Given the description of an element on the screen output the (x, y) to click on. 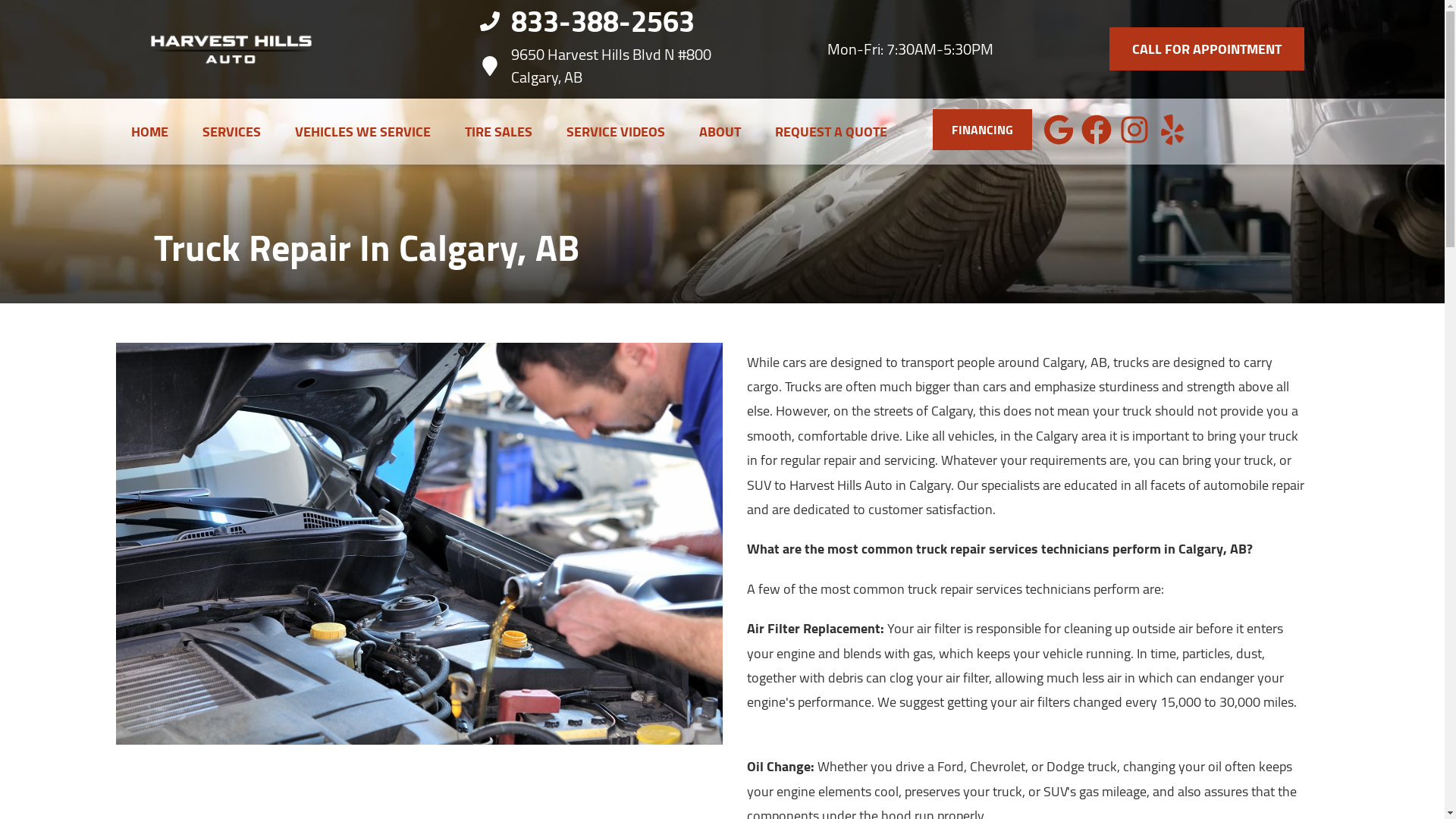
Make an Appointment (1206, 48)
SERVICES (231, 131)
Harvest Hills Auto (230, 48)
CALL FOR APPOINTMENT (1206, 48)
Services (231, 131)
HOME (149, 131)
833-388-2563   (595, 21)
Home (149, 131)
Call Harvest Hills Auto (595, 21)
